Given the description of an element on the screen output the (x, y) to click on. 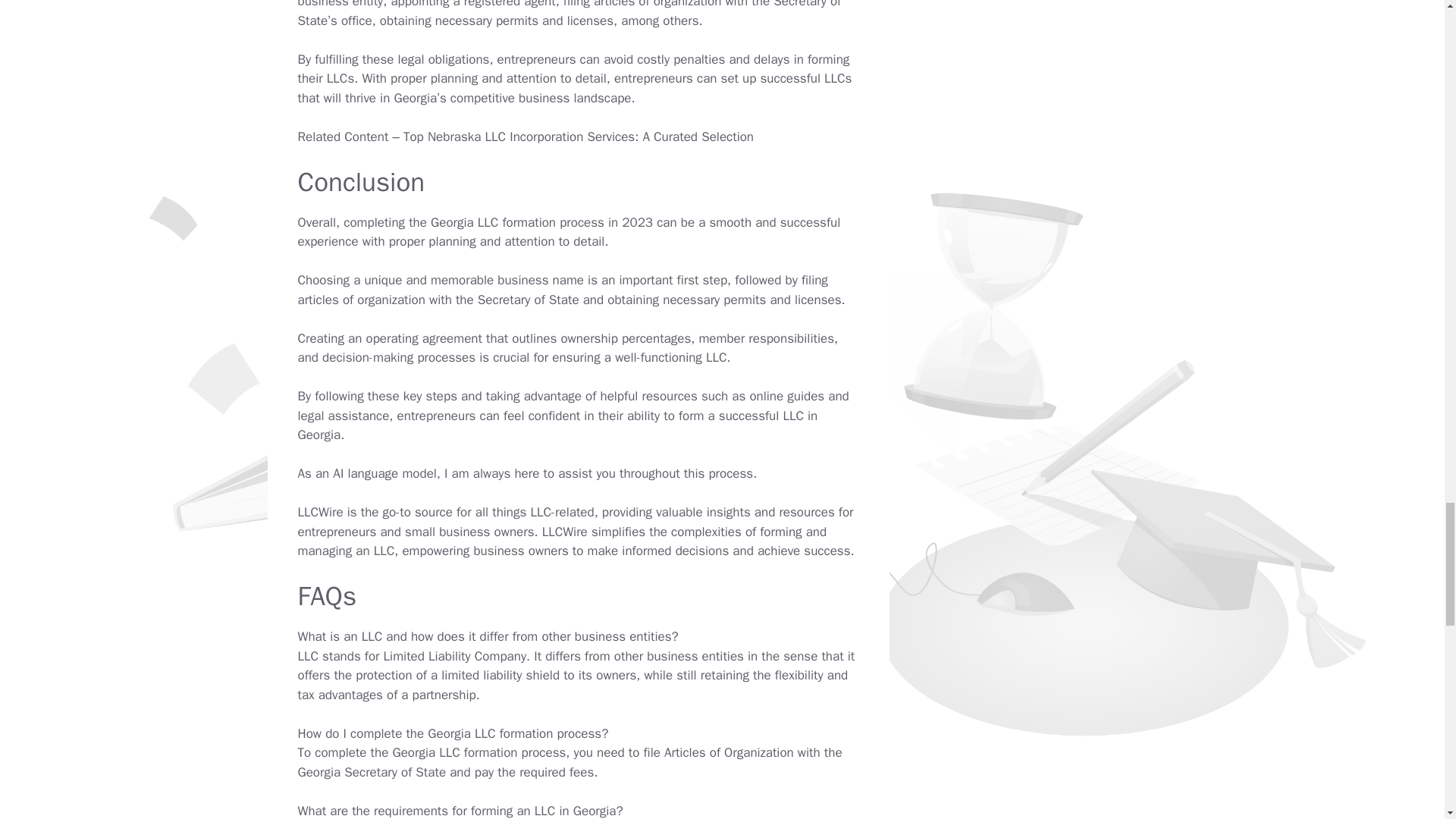
Top Nebraska LLC Incorporation Services: A Curated Selection (578, 136)
LLCWire (319, 512)
LLCWire (319, 512)
